Given the description of an element on the screen output the (x, y) to click on. 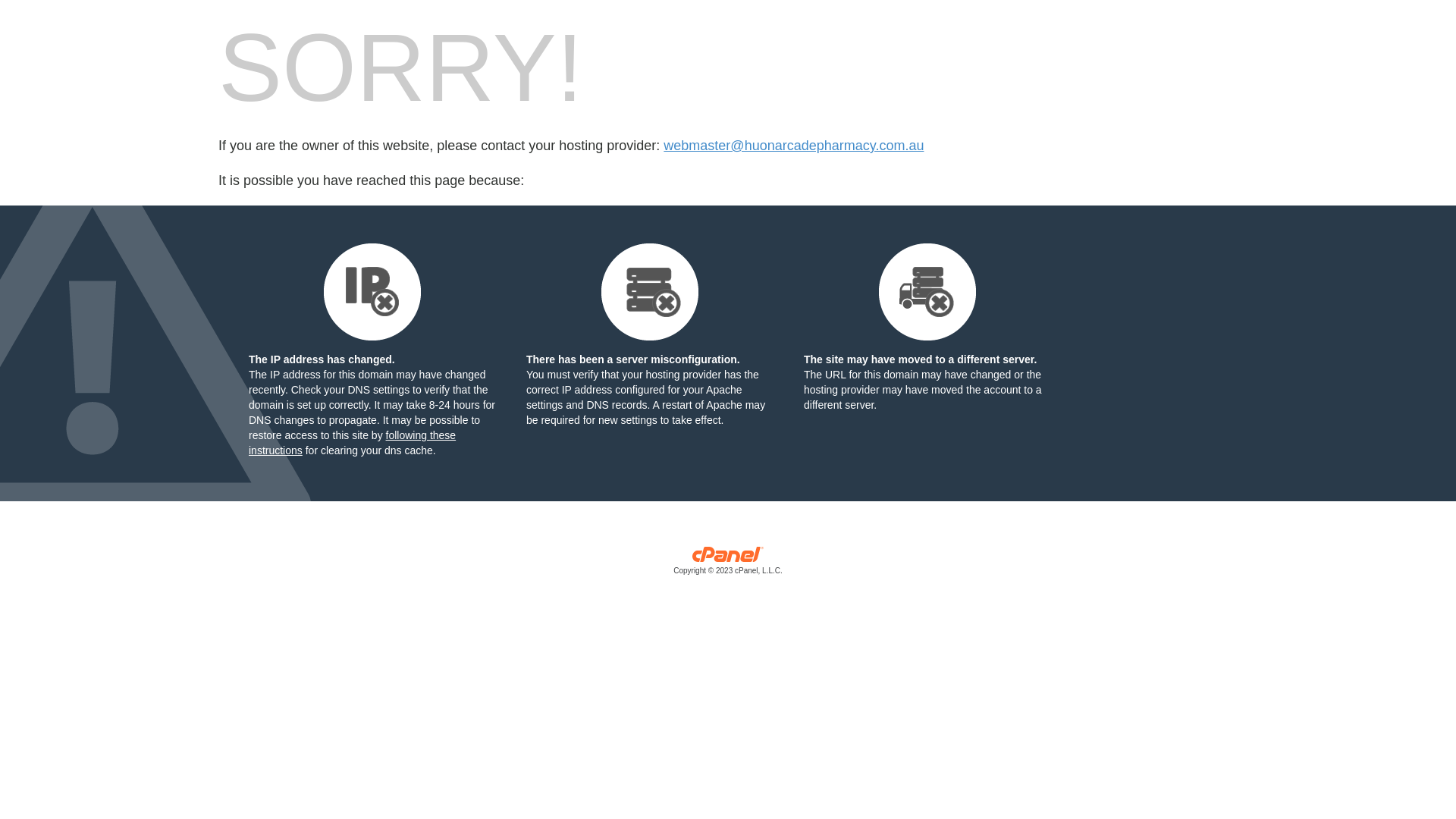
following these instructions Element type: text (351, 442)
webmaster@huonarcadepharmacy.com.au Element type: text (793, 145)
